Given the description of an element on the screen output the (x, y) to click on. 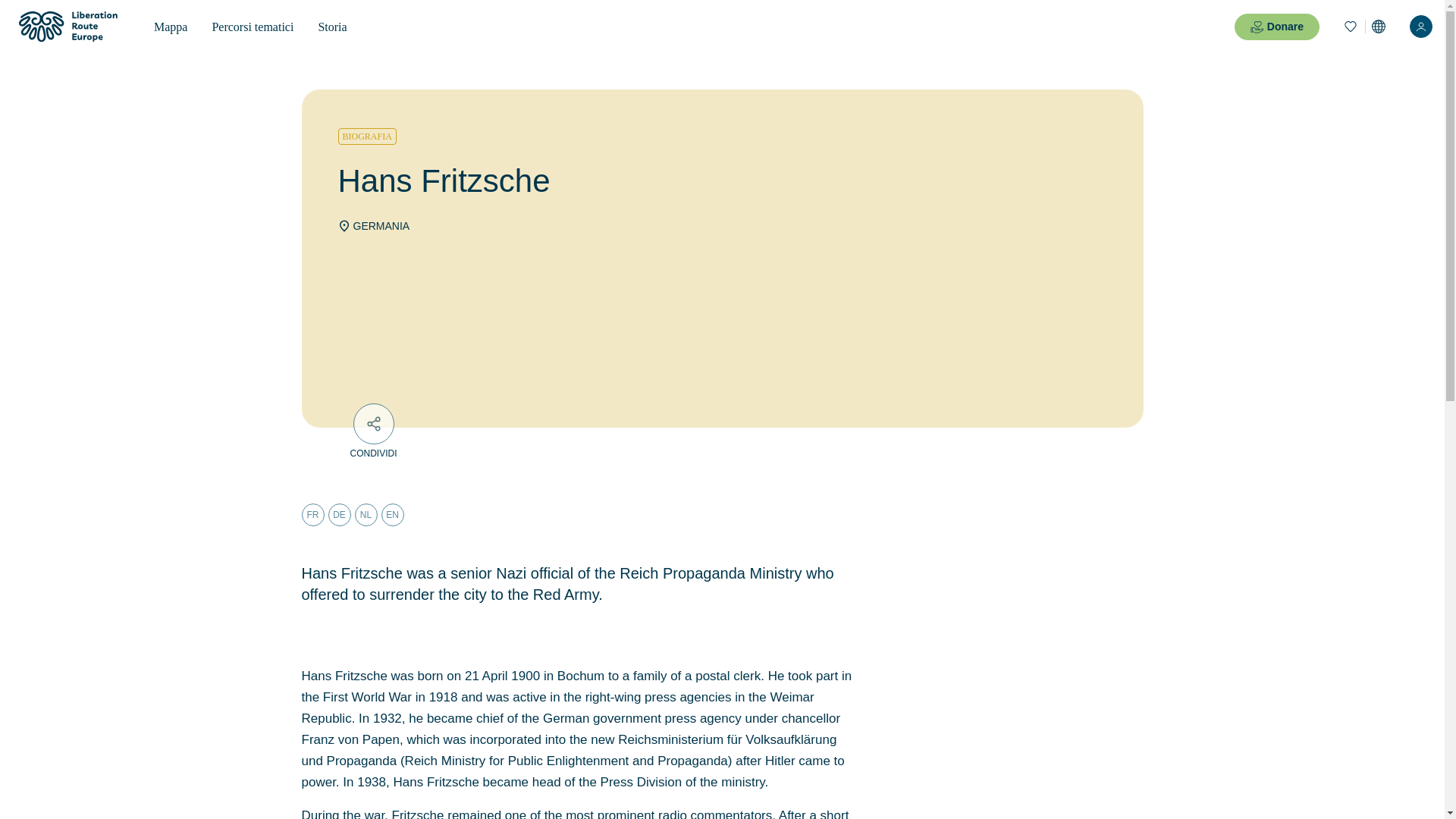
Percorsi tematici (252, 26)
Donare (1276, 26)
Storia (331, 26)
NL (366, 514)
Mappa (170, 26)
EN (391, 514)
DE (338, 514)
FR (312, 514)
